Given the description of an element on the screen output the (x, y) to click on. 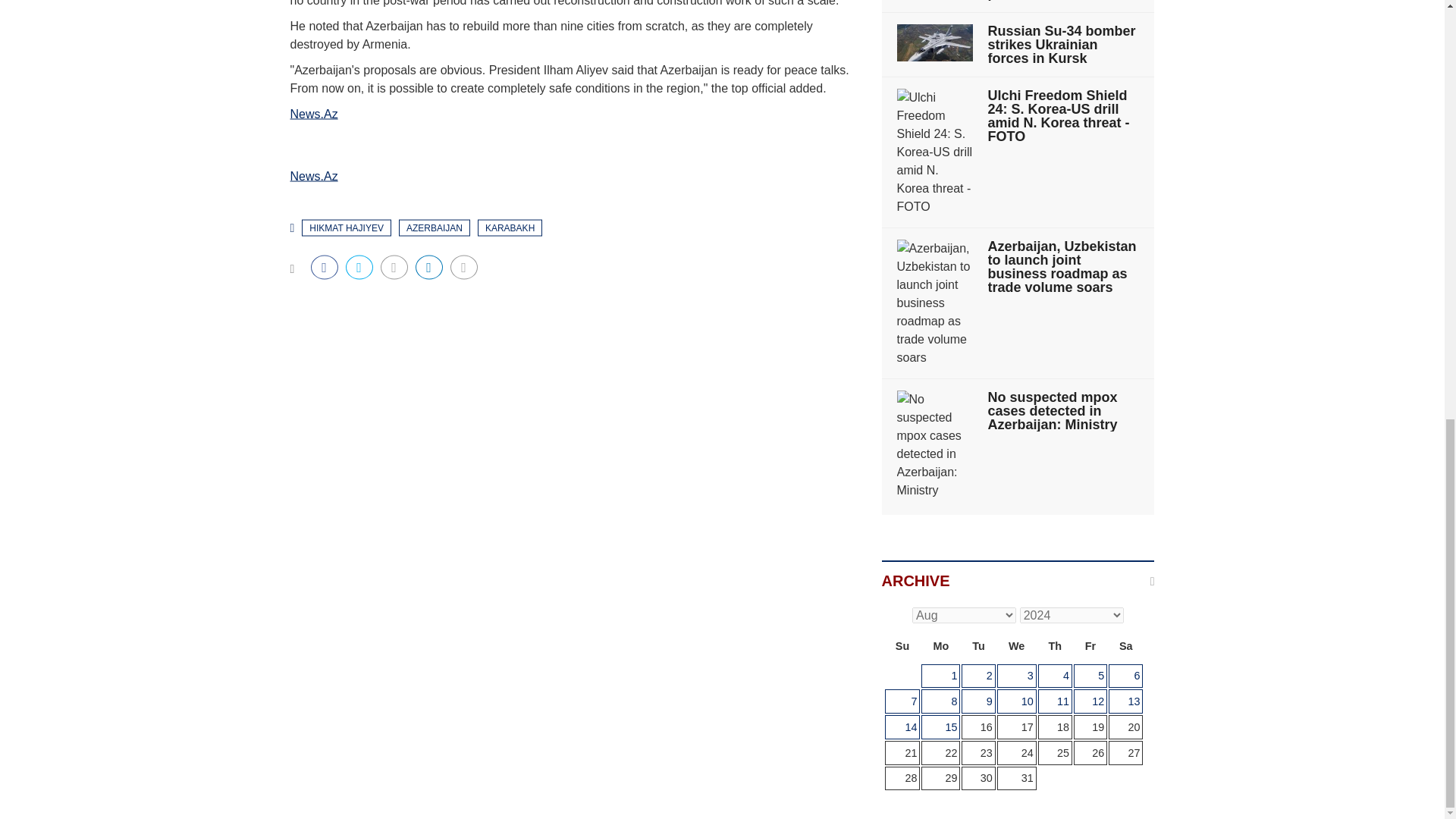
HIKMAT HAJIYEV (346, 227)
AZERBAIJAN (434, 227)
News.Az (313, 113)
KARABAKH (509, 227)
Share news on Twitter (359, 266)
Share news on Facebook (324, 266)
News.Az (313, 174)
